Given the description of an element on the screen output the (x, y) to click on. 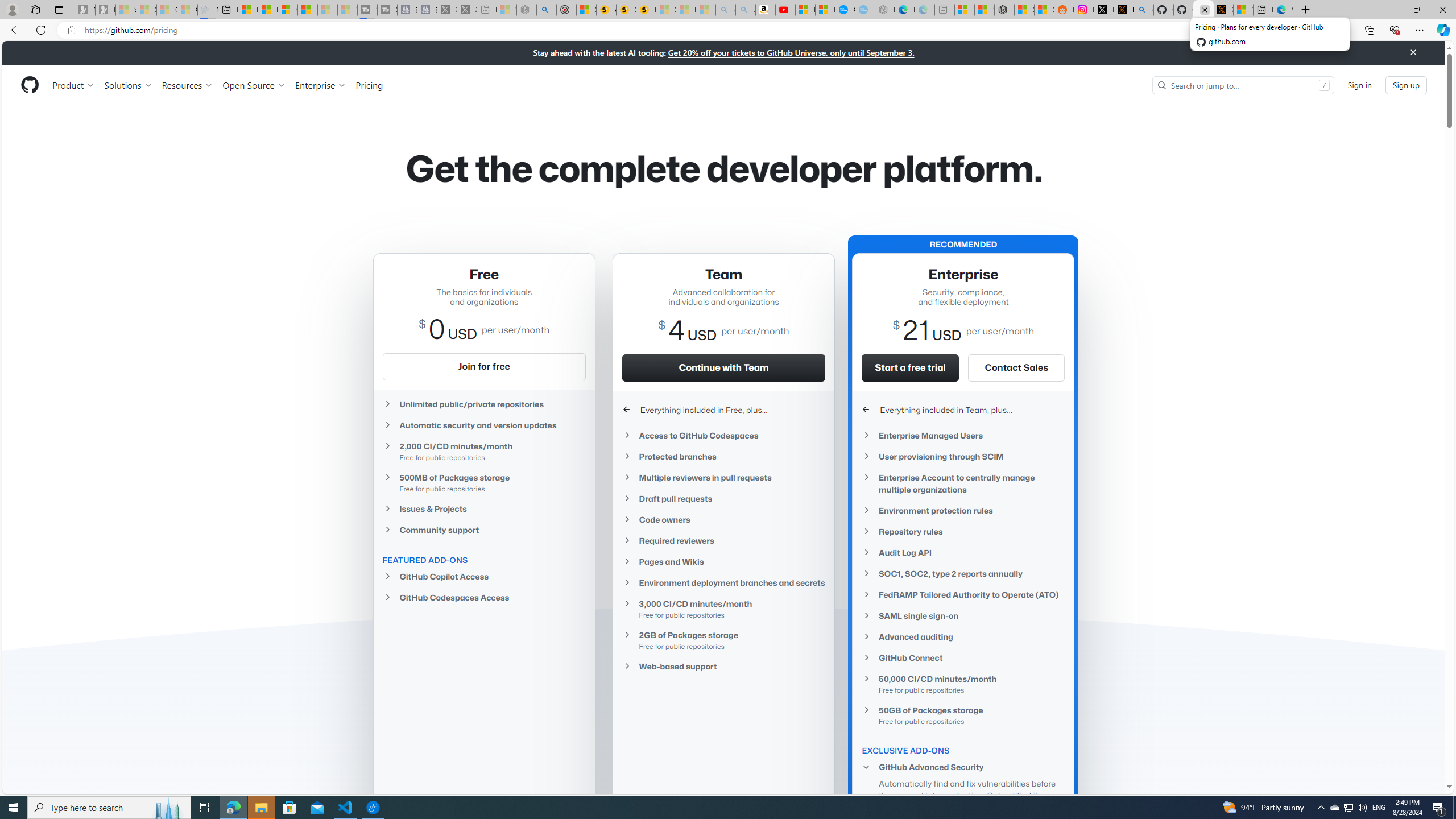
github - Search (1143, 9)
Enterprise Managed Users (963, 435)
Join for free (483, 366)
FedRAMP Tailored Authority to Operate (ATO) (963, 594)
500MB of Packages storage Free for public repositories (483, 482)
Nordace - Summer Adventures 2024 - Sleeping (526, 9)
Sign up (1406, 84)
Sign in (1359, 84)
50,000 CI/CD minutes/monthFree for public repositories (963, 683)
GitHub Connect (963, 658)
Advanced auditing (963, 636)
Opinion: Op-Ed and Commentary - USA TODAY (844, 9)
GitHub Connect (963, 658)
